Given the description of an element on the screen output the (x, y) to click on. 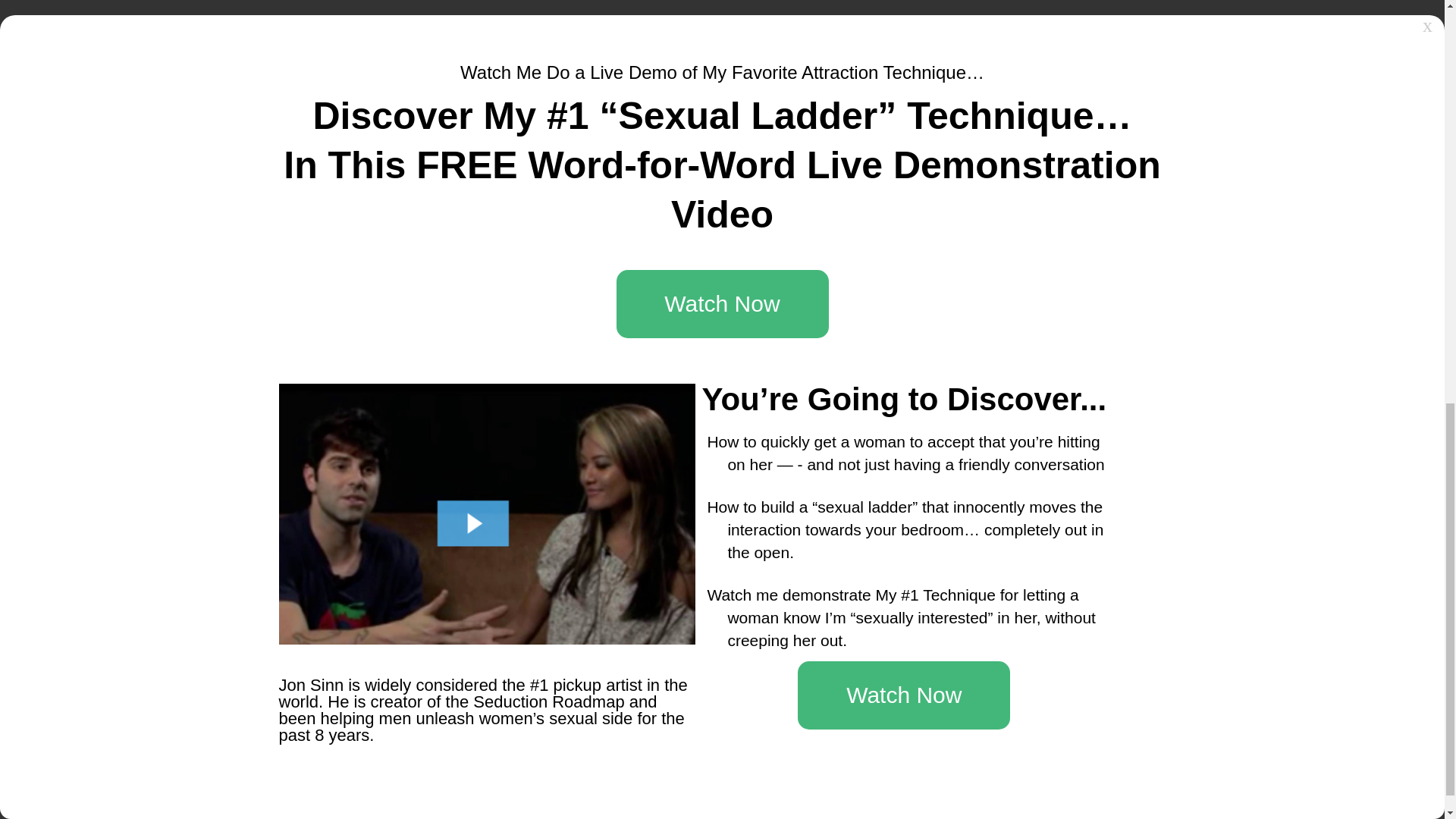
Homepage (324, 437)
check them out (503, 365)
Natasha Abrahams (1073, 635)
Nick Rogue (1054, 592)
Rob Judge (912, 592)
Christopher Reid (1067, 614)
Videos (374, 437)
David Maitland (1062, 680)
Patrick James (1060, 658)
Homepage (324, 437)
Jamie Atkinson (923, 635)
EMAIL PRIVACY (650, 219)
Ben Kissam (915, 680)
Bobby Rio (911, 542)
Joe Elvin (908, 658)
